Given the description of an element on the screen output the (x, y) to click on. 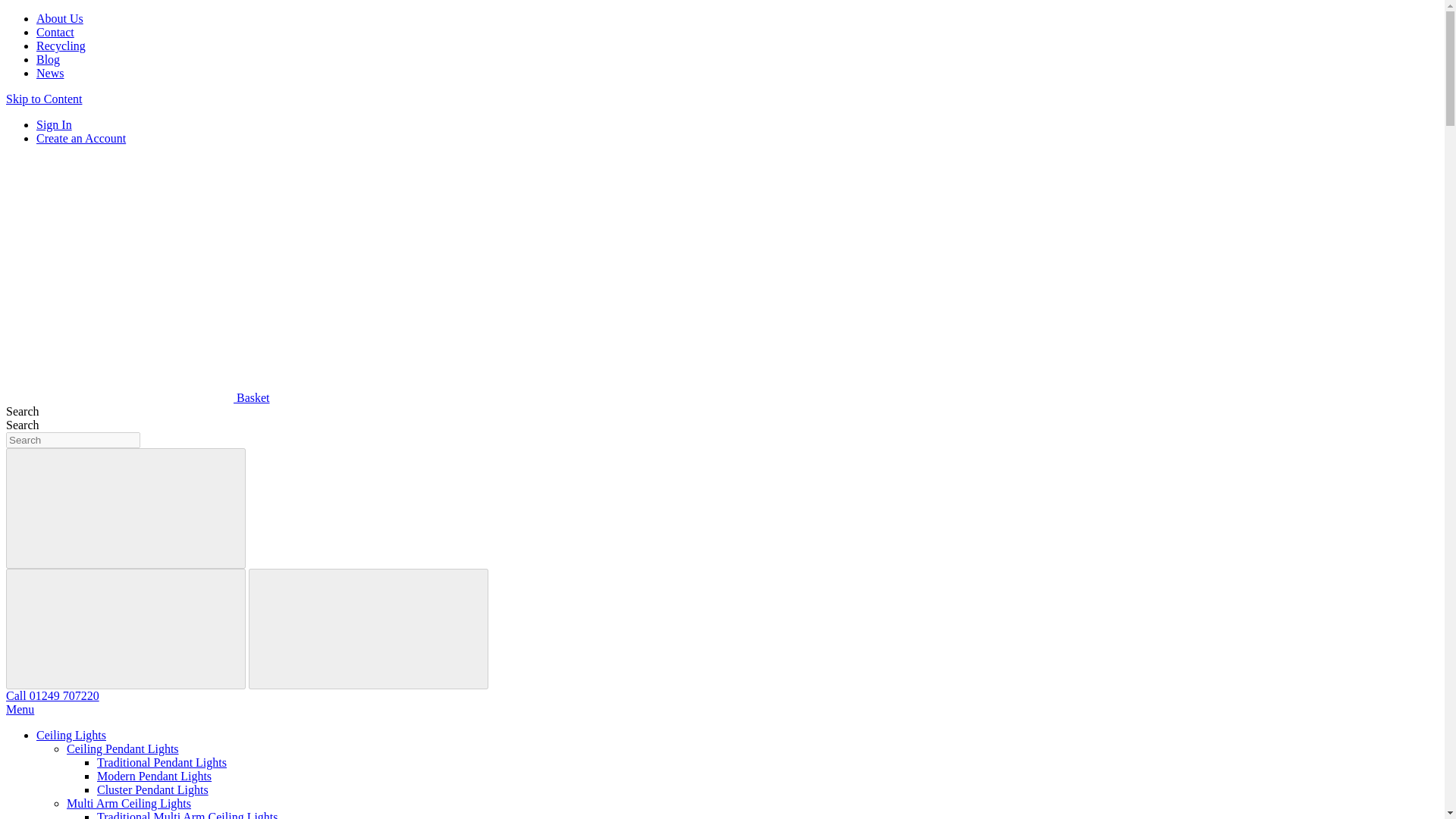
Cluster Pendant Lights (152, 789)
Menu (19, 708)
Basket (137, 397)
Search (125, 507)
Close (367, 628)
Multi Arm Ceiling Lights (128, 802)
Call 01249 707220 (52, 695)
Traditional Multi Arm Ceiling Lights (187, 814)
Sign In (53, 124)
Ceiling Pendant Lights (122, 748)
